Given the description of an element on the screen output the (x, y) to click on. 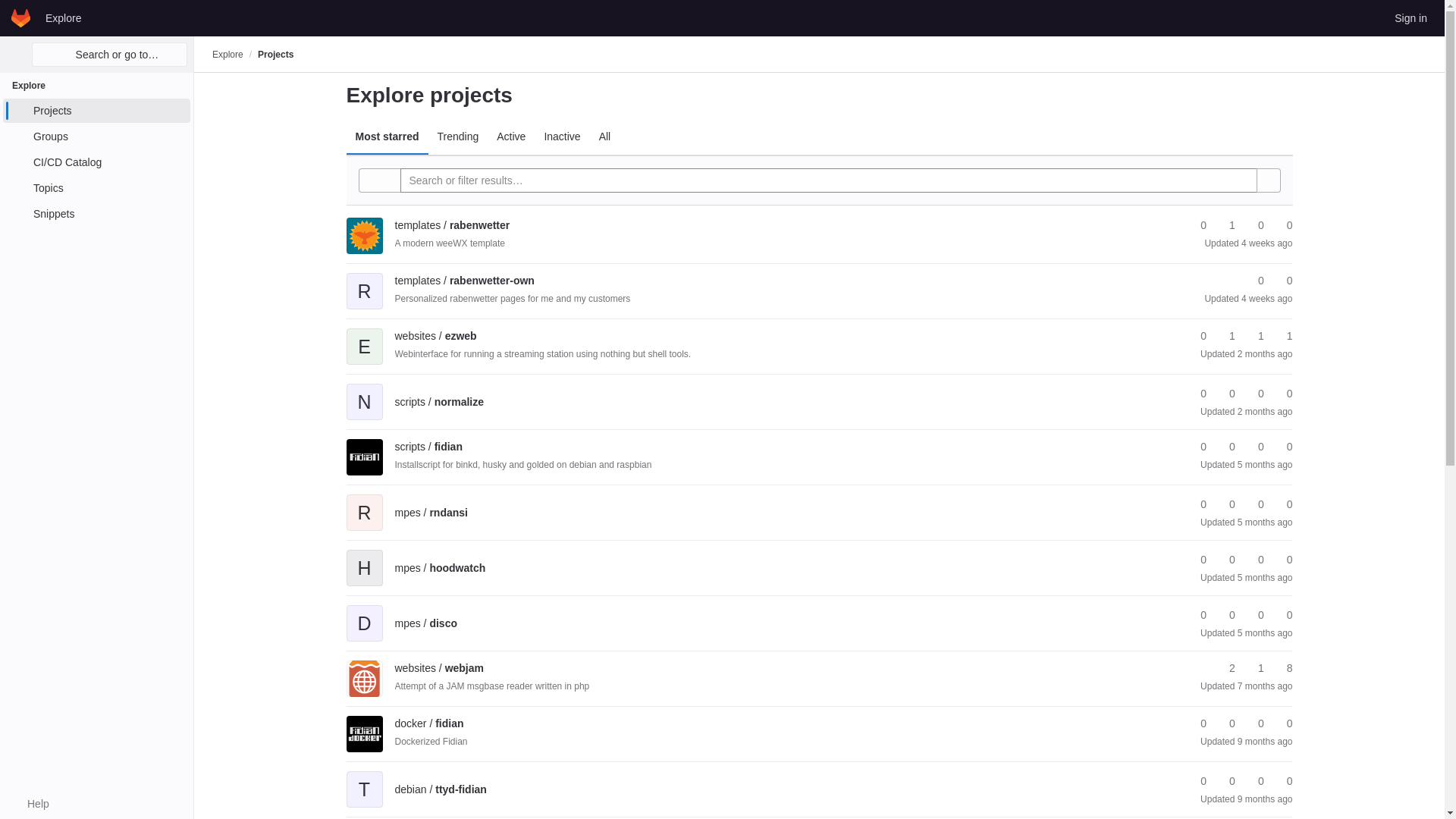
Explore (227, 54)
Projects (96, 110)
Trending (457, 135)
Help (30, 803)
0 (1282, 225)
1 (1224, 225)
Projects (275, 54)
Forks (1224, 225)
ezweb (435, 336)
Merge requests (1253, 225)
